Given the description of an element on the screen output the (x, y) to click on. 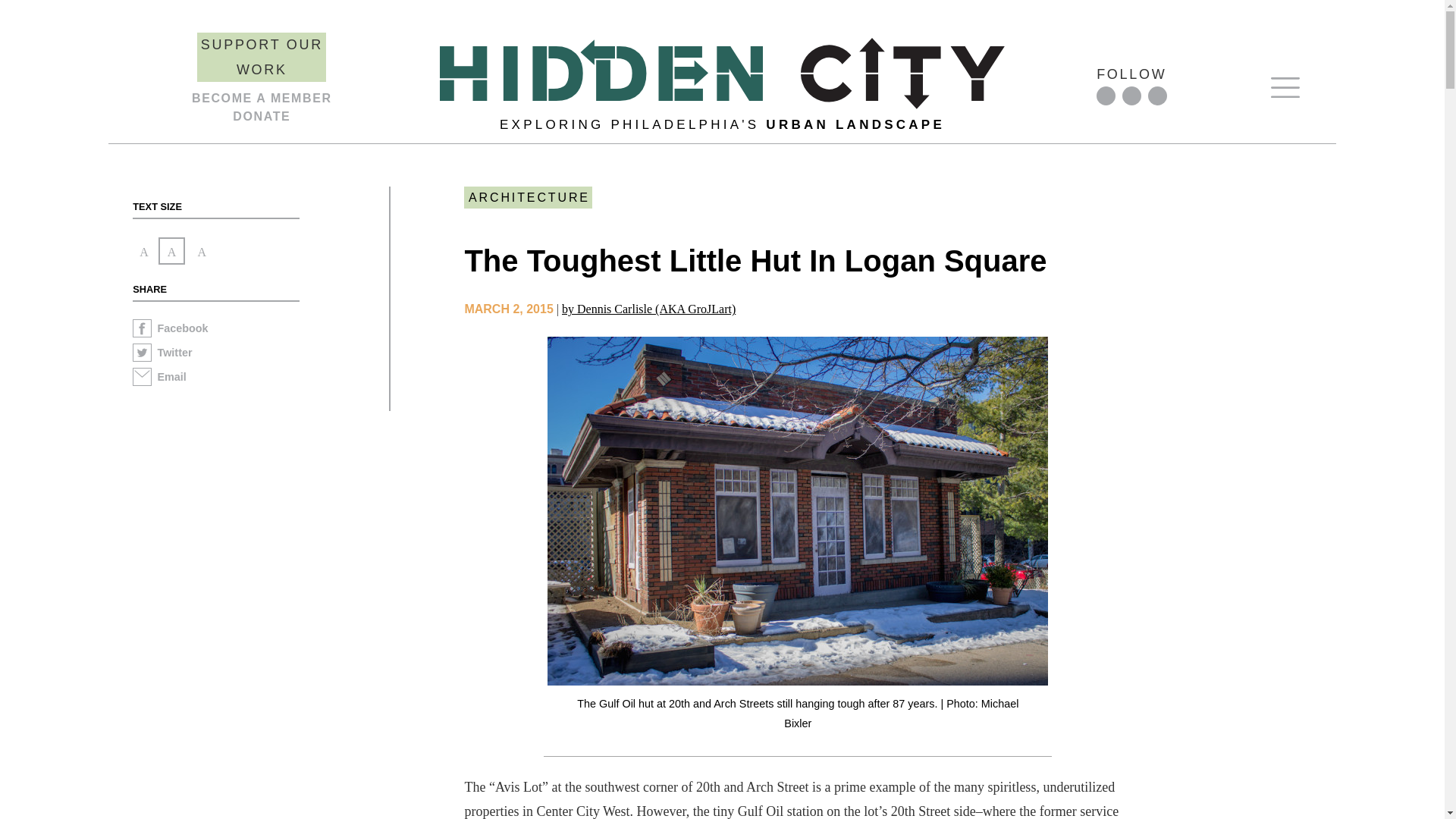
Email (260, 379)
A (201, 249)
BECOME A MEMBER (261, 97)
A (143, 251)
ARCHITECTURE (528, 197)
DONATE (260, 115)
Facebook (260, 331)
MARCH 2, 2015 (508, 308)
Twitter (260, 355)
A (172, 250)
